Given the description of an element on the screen output the (x, y) to click on. 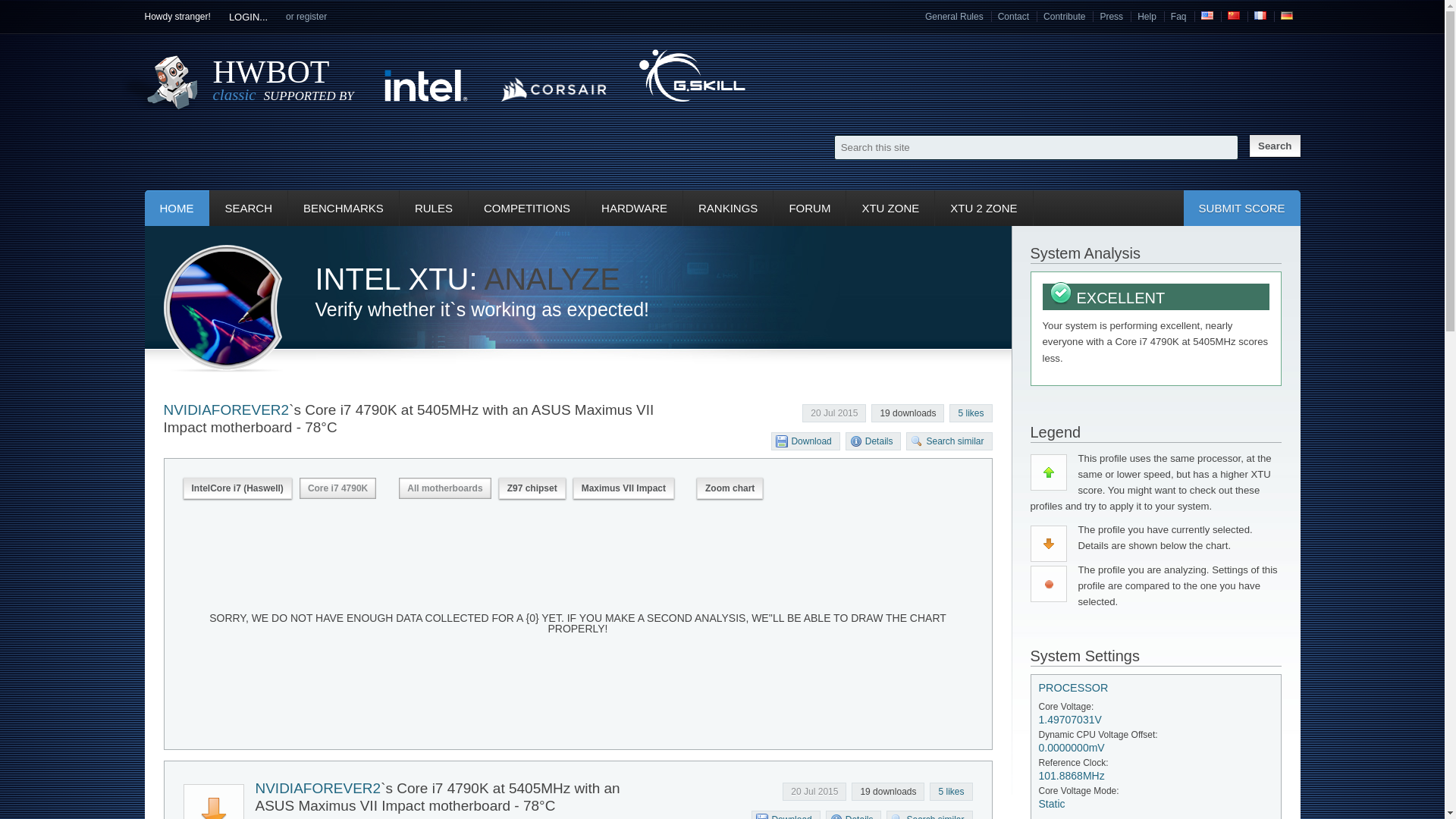
News (176, 208)
English (1206, 16)
Contribute (1063, 16)
Back to home (282, 88)
French (1259, 16)
LOGIN... (248, 17)
Contact us (1013, 16)
Faq (1178, 16)
RULES (432, 208)
German (1285, 16)
Press (1110, 16)
Contact (1013, 16)
Simplified Chinese (1233, 16)
Frequently Asked Questions (1178, 16)
English (1206, 15)
